Given the description of an element on the screen output the (x, y) to click on. 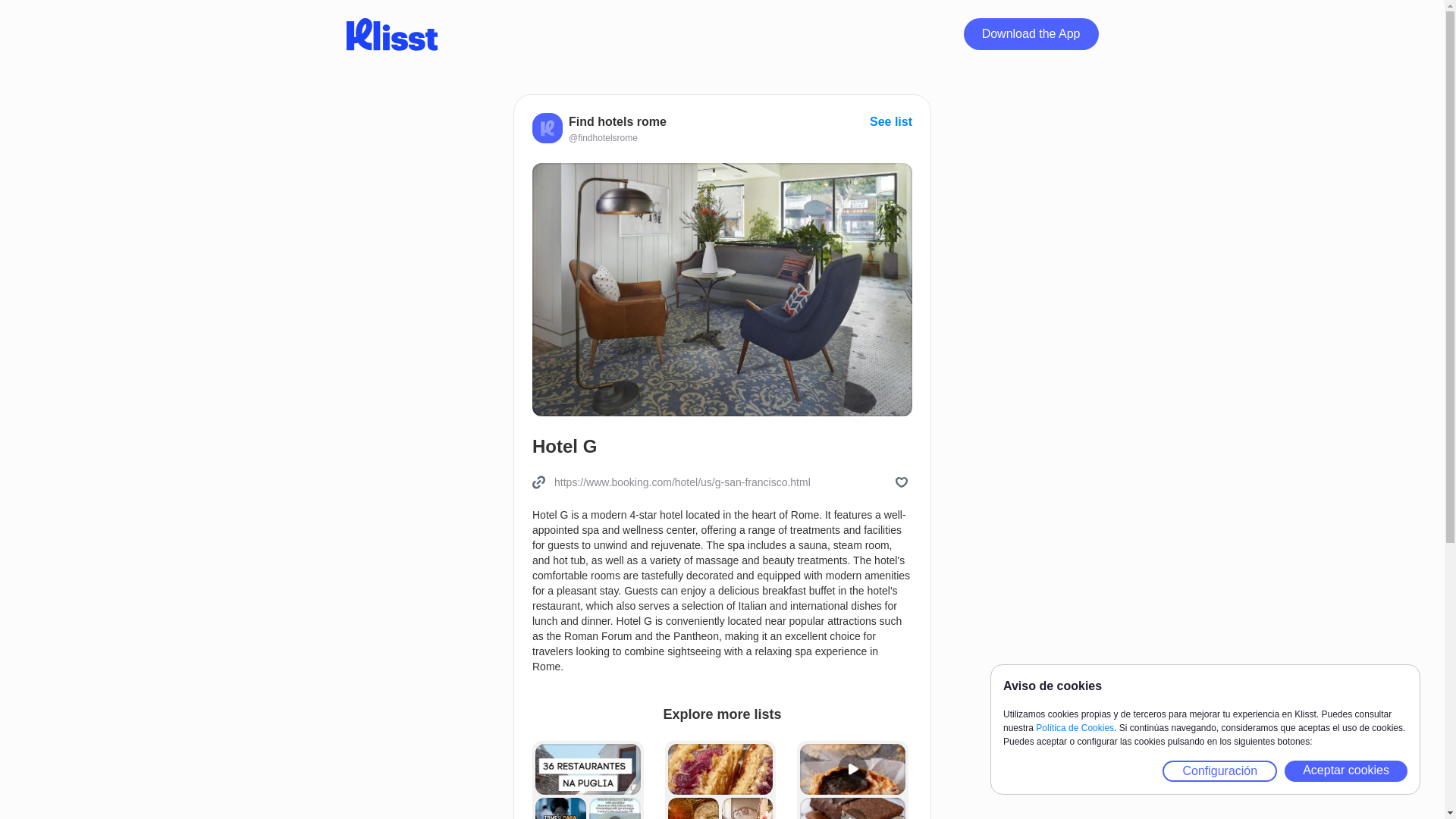
Aceptar cookies (1345, 771)
Ver el perfil de Find hotels rome (599, 137)
Ver la lista (890, 122)
IG (587, 780)
Recetas IG (852, 780)
See list (890, 122)
Download the App (1031, 33)
